Given the description of an element on the screen output the (x, y) to click on. 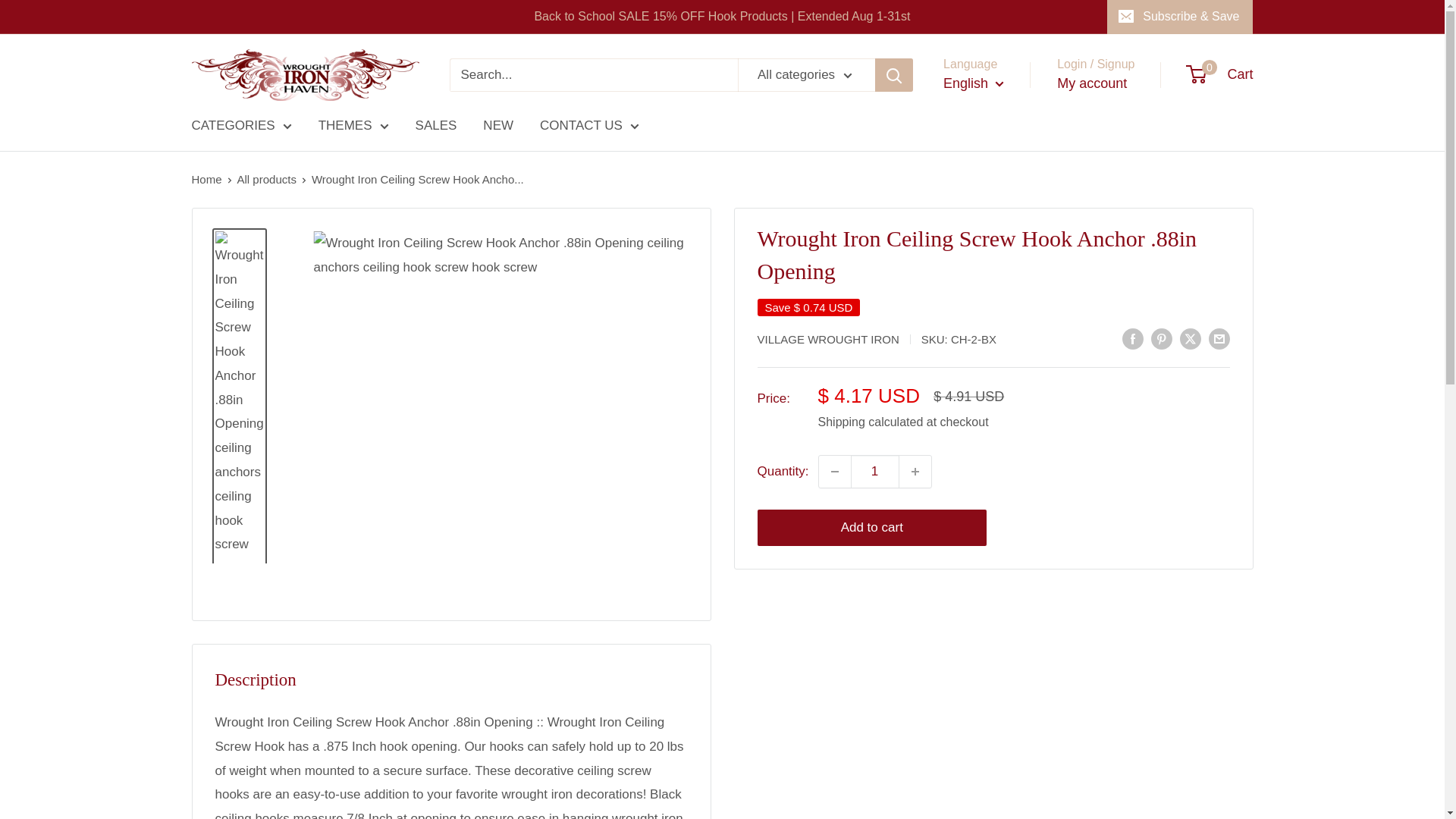
Increase quantity by 1 (915, 470)
1 (874, 470)
Decrease quantity by 1 (834, 470)
